Given the description of an element on the screen output the (x, y) to click on. 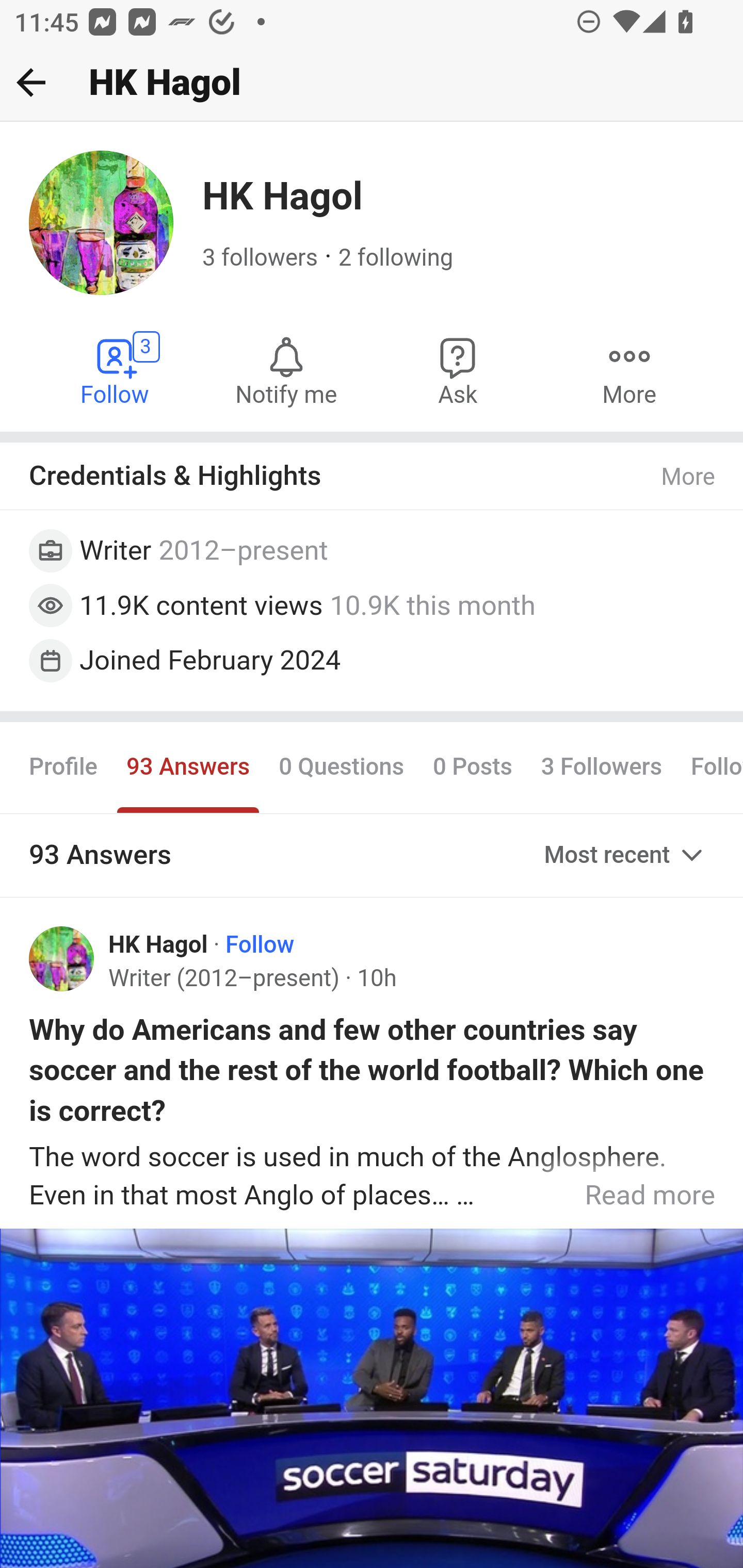
Back HK Hagol (371, 82)
Back (30, 82)
3 followers (260, 257)
2 following (395, 257)
Follow HK Hagol 3 Follow (115, 370)
Notify me (285, 370)
Ask (458, 370)
More (628, 370)
More (688, 477)
Profile (63, 766)
93 Answers (187, 766)
0 Questions (341, 766)
0 Posts (471, 766)
3 Followers (600, 766)
Most recent (625, 854)
Profile photo for HK Hagol (61, 959)
HK Hagol (158, 944)
Follow (259, 944)
10h 10 h (376, 979)
